Given the description of an element on the screen output the (x, y) to click on. 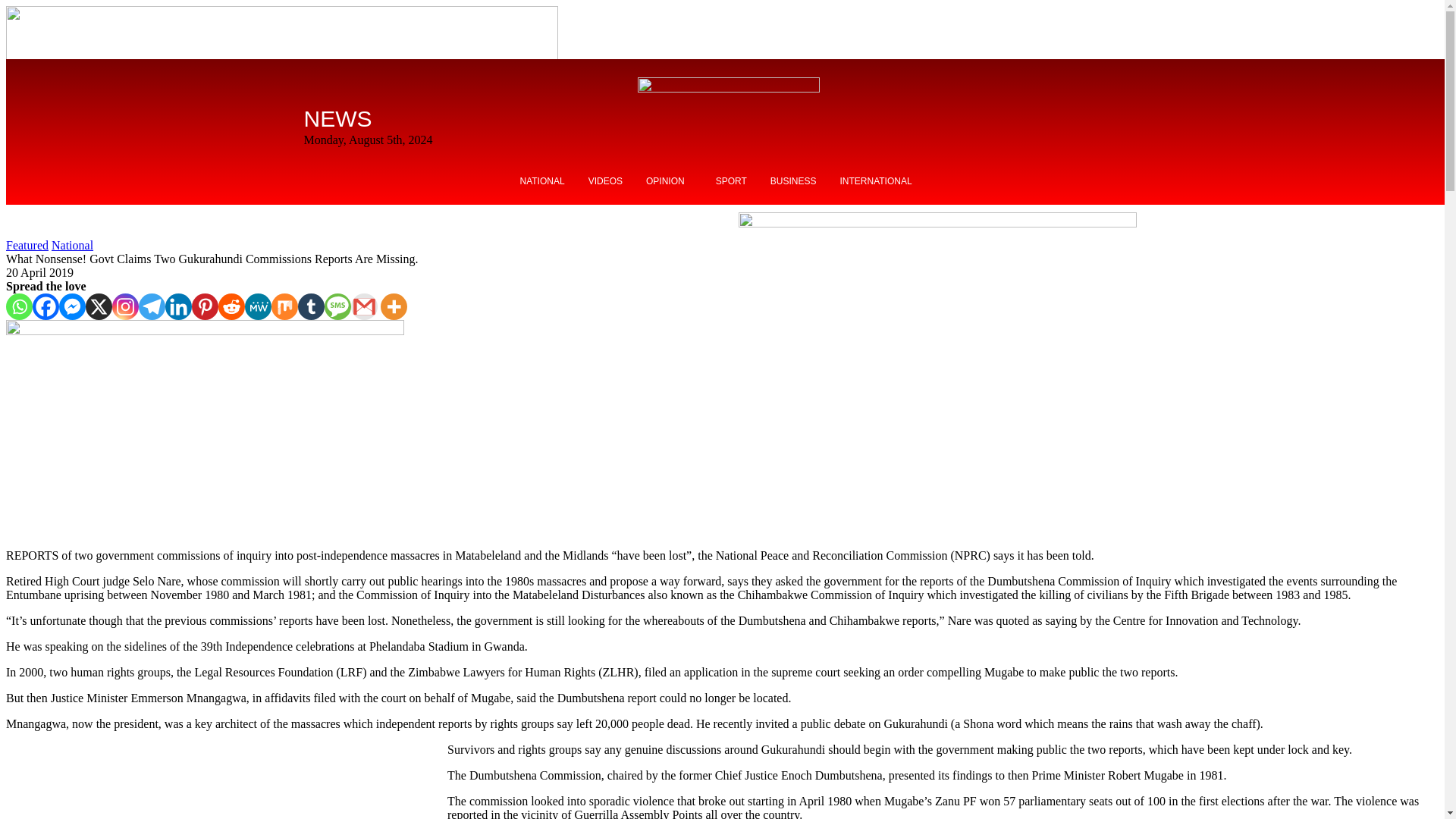
SPORT (731, 181)
Facebook Messenger (72, 306)
NATIONAL (541, 181)
VIDEOS (605, 181)
Facebook (45, 306)
BUSINESS (793, 181)
Whatsapp (18, 306)
X (98, 306)
Pinterest (205, 306)
Reddit (231, 306)
Linkedin (178, 306)
INTERNATIONAL (875, 181)
National (71, 245)
MeWe (257, 306)
Featured (26, 245)
